Given the description of an element on the screen output the (x, y) to click on. 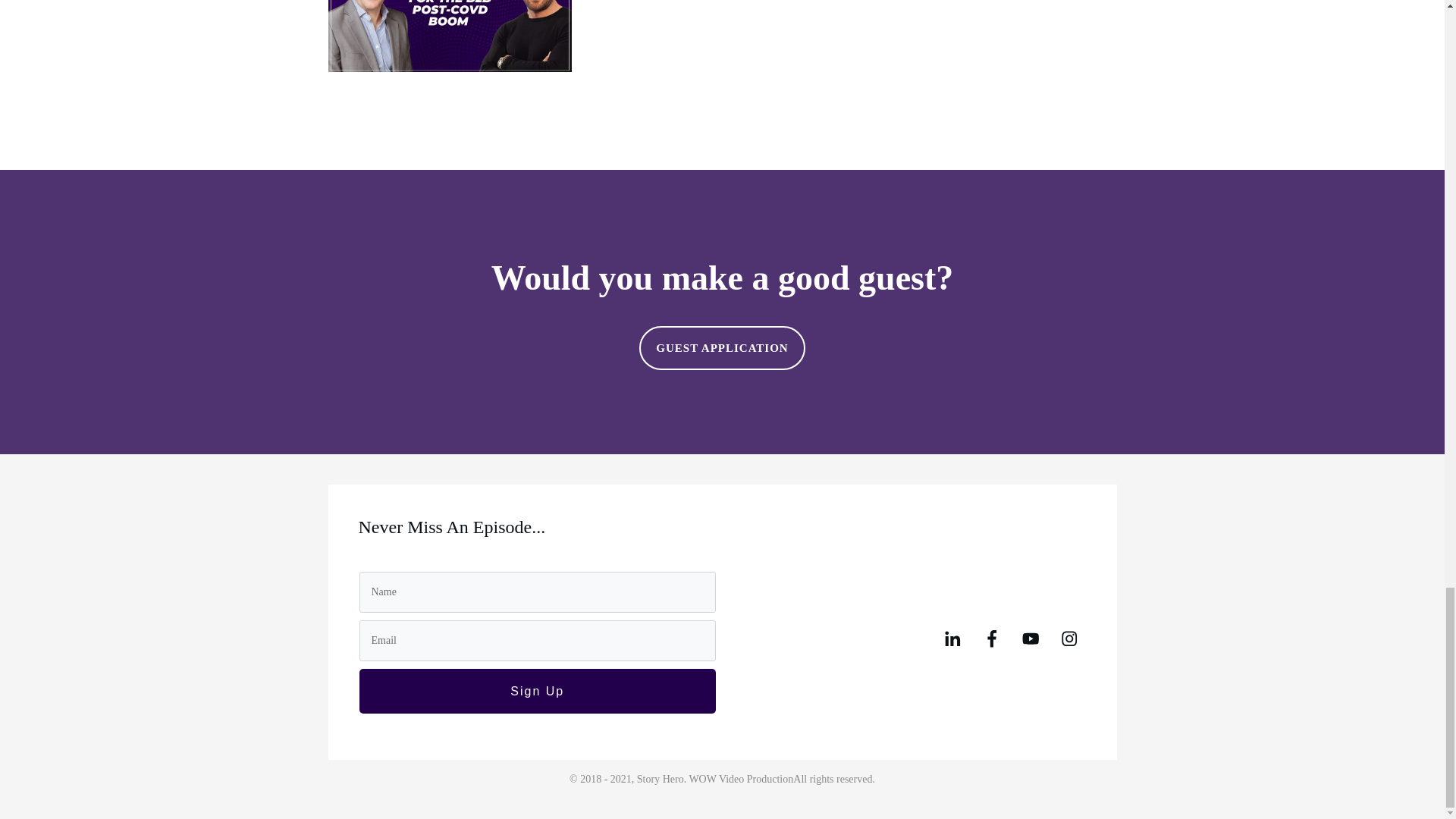
GUEST APPLICATION (722, 347)
Preparing For The B2B Post-Covid Boom (457, 46)
The Buying Four Confidences Which Need Addressing (721, 46)
Strategic TV Advertising For B2B Marketers (986, 46)
Sign Up (537, 691)
